Given the description of an element on the screen output the (x, y) to click on. 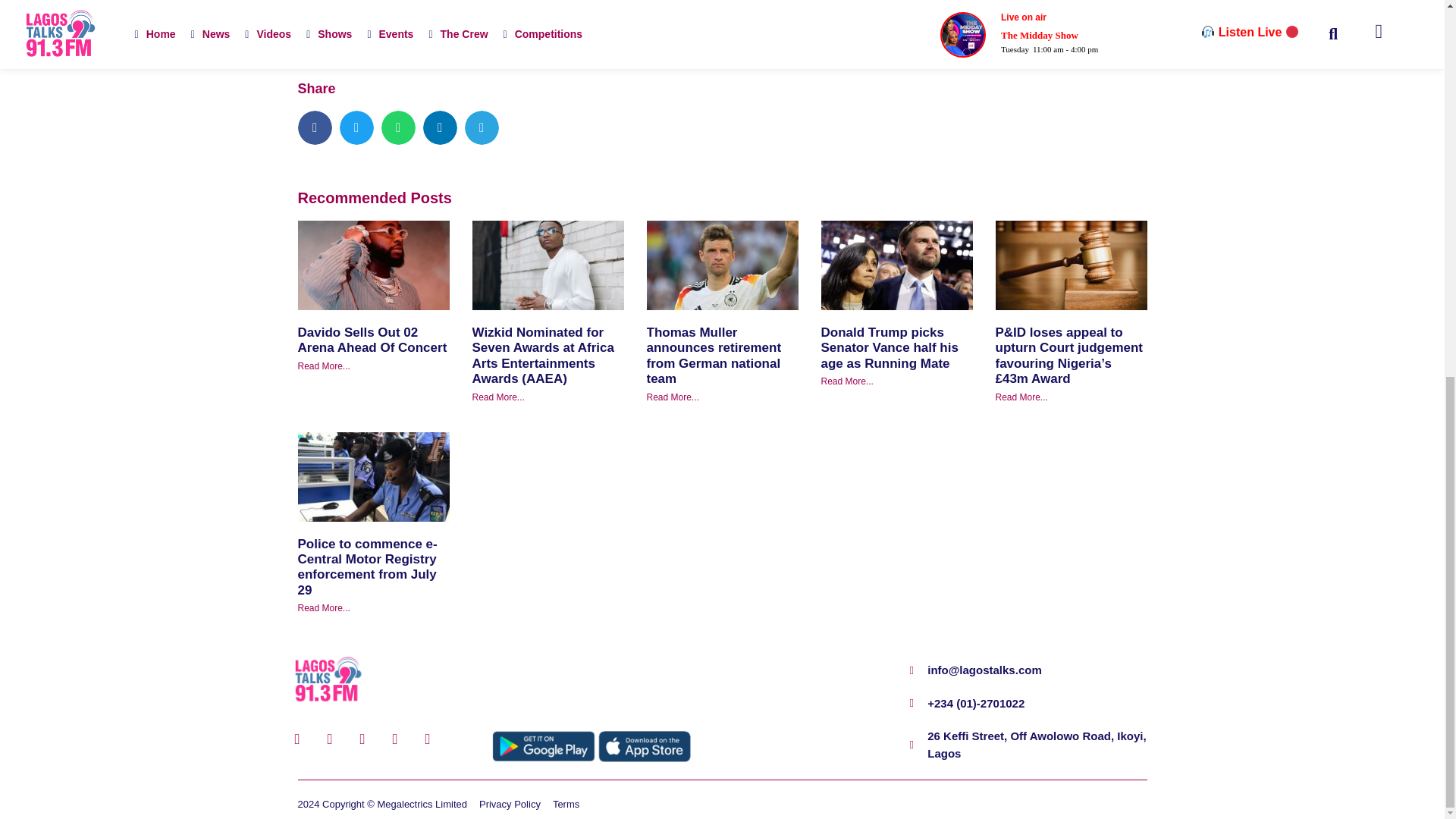
Read More... (846, 380)
Read More... (323, 366)
Thomas Muller announces retirement from German national team (713, 355)
Read More... (672, 397)
Read More... (497, 397)
Davido Sells Out 02 Arena Ahead Of Concert (371, 339)
